Given the description of an element on the screen output the (x, y) to click on. 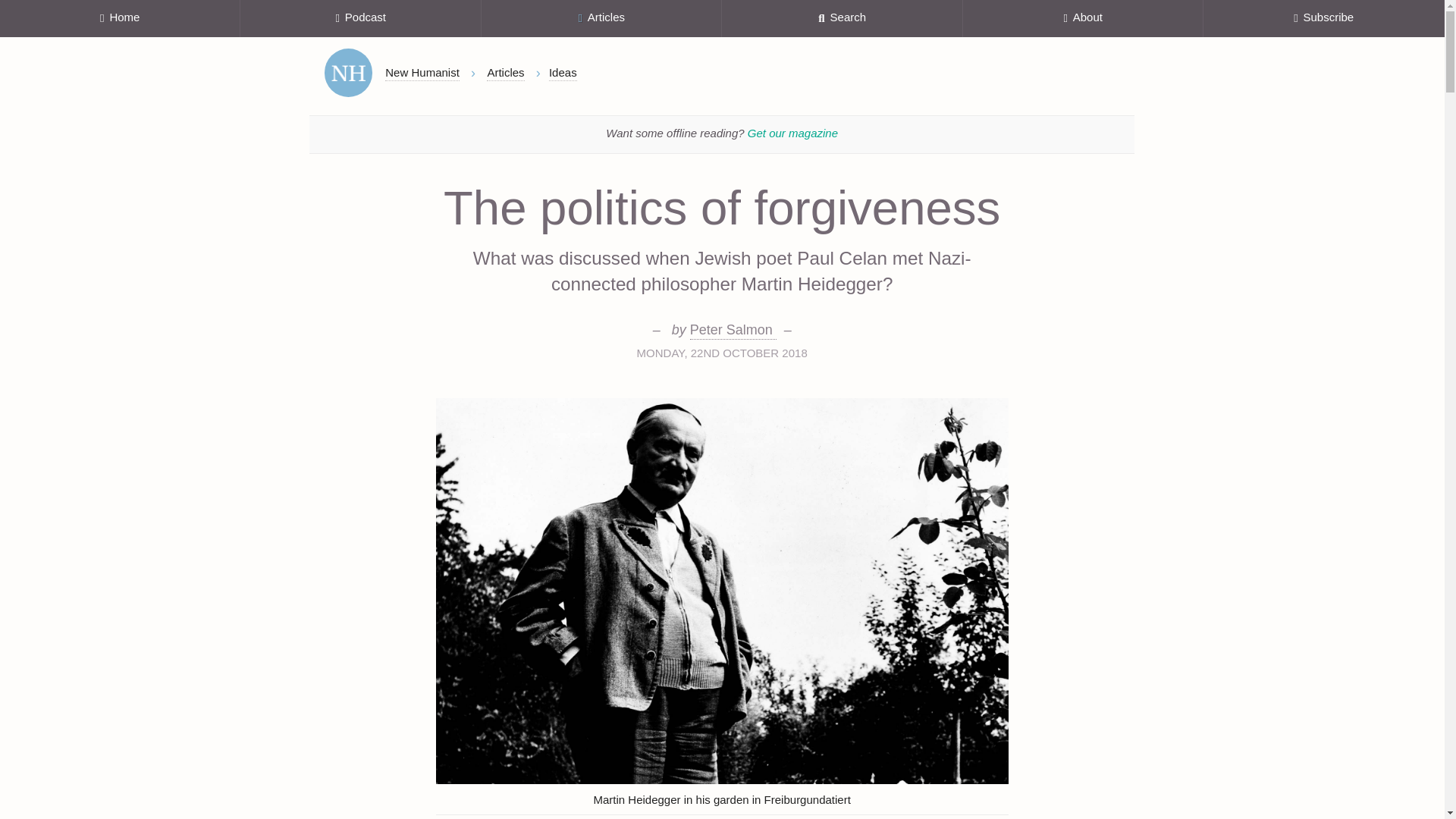
Articles (601, 18)
New Humanist (422, 73)
Search (842, 18)
Articles (505, 73)
Subscribe (1324, 18)
Want some offline reading? Get our magazine (721, 134)
Home (348, 72)
About (1083, 18)
Peter Salmon (733, 330)
Podcast (360, 18)
